Given the description of an element on the screen output the (x, y) to click on. 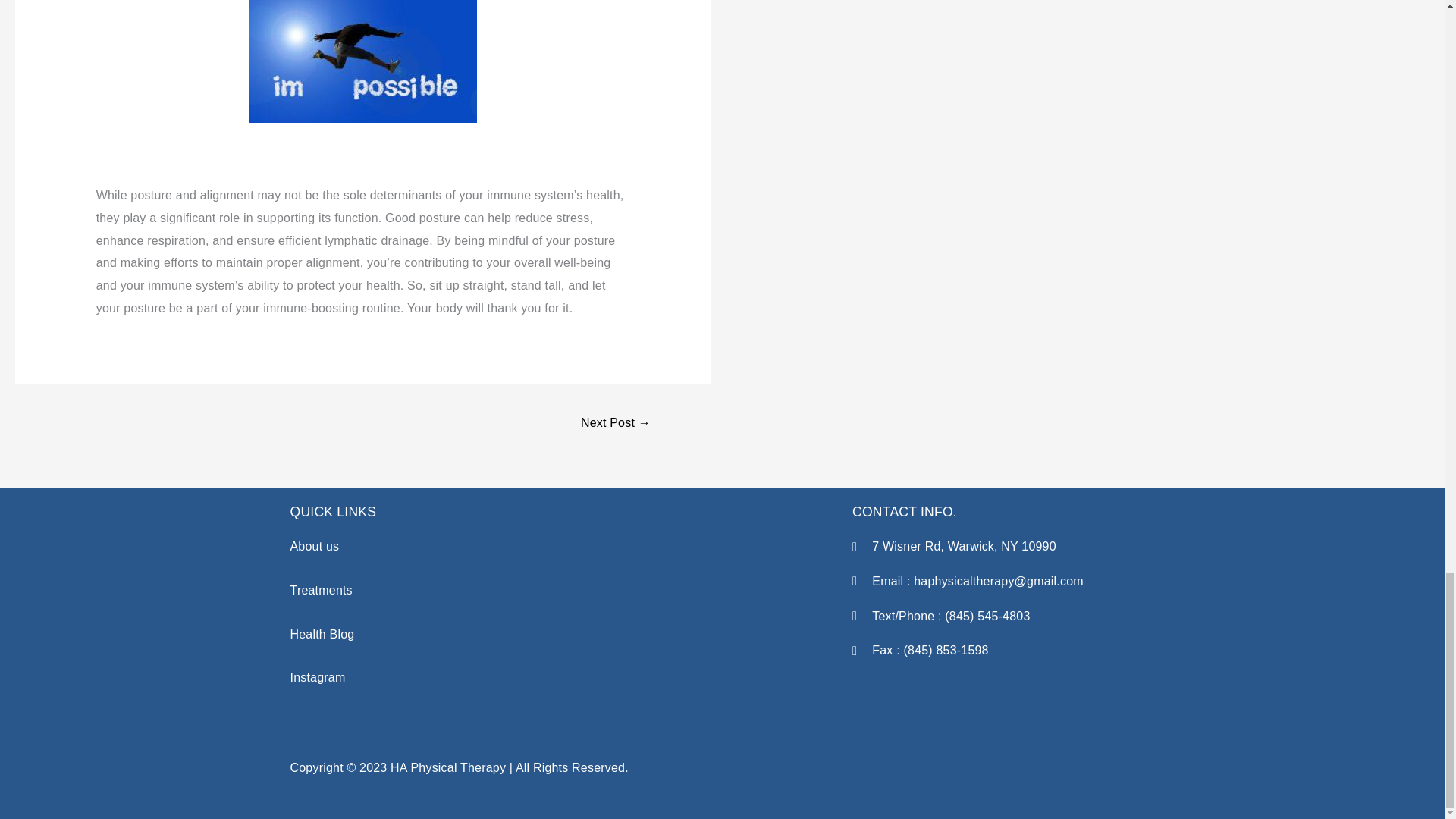
Treatments (320, 590)
Health Blog (321, 634)
About us (314, 545)
Instagram (317, 676)
Secrets to Maintaining Optimal Muscle Length (615, 424)
